Given the description of an element on the screen output the (x, y) to click on. 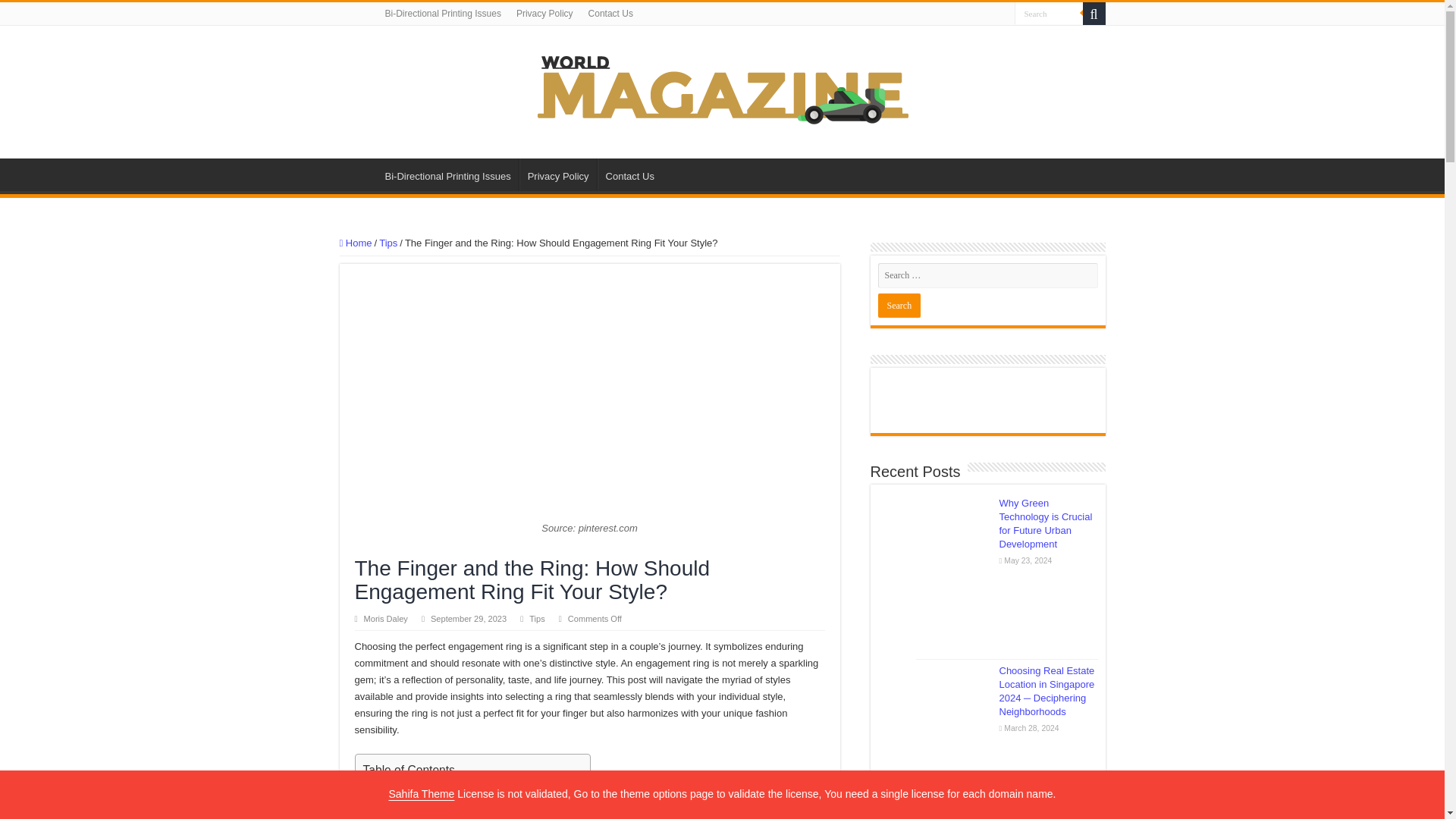
Tips (387, 242)
World Magazine 2024 (721, 89)
Contact Us (610, 13)
Privacy Policy (544, 13)
Search (1094, 13)
Search (899, 305)
Contact Us (629, 174)
Search (899, 305)
Search (1048, 13)
